Given the description of an element on the screen output the (x, y) to click on. 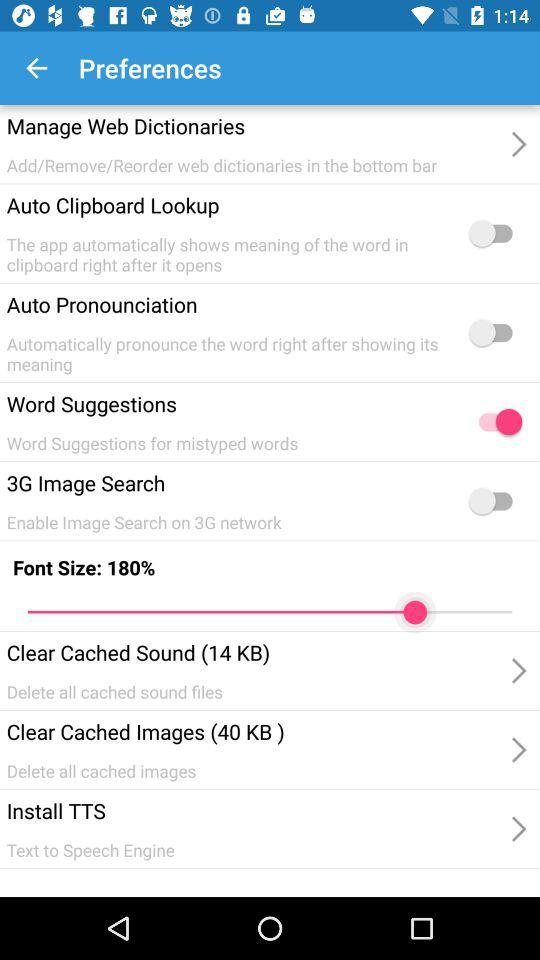
toggle auto pronounciation (495, 332)
